Given the description of an element on the screen output the (x, y) to click on. 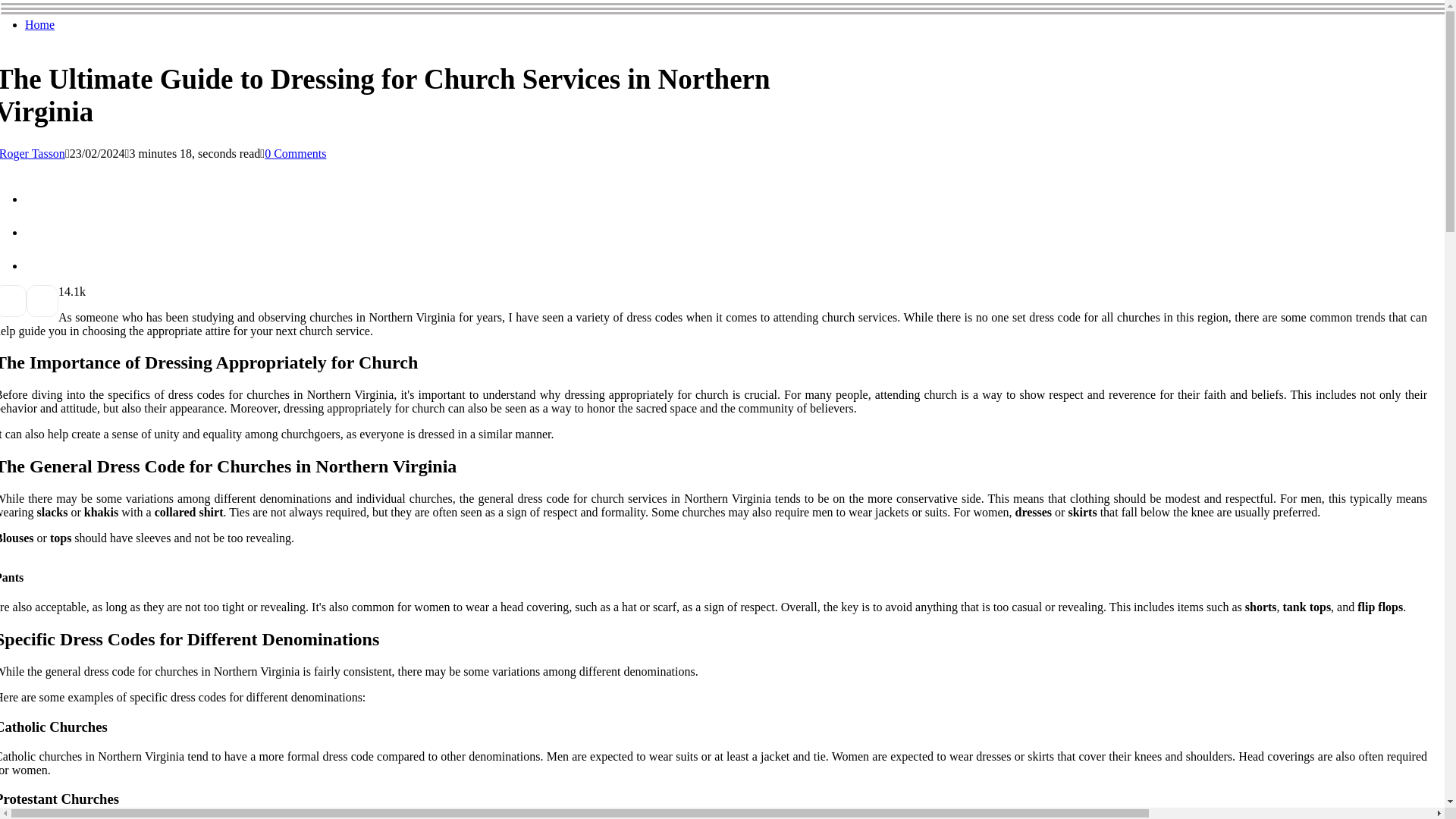
Roger Tasson (32, 153)
Home (39, 24)
0 Comments (295, 153)
Posts by Roger Tasson (32, 153)
